Given the description of an element on the screen output the (x, y) to click on. 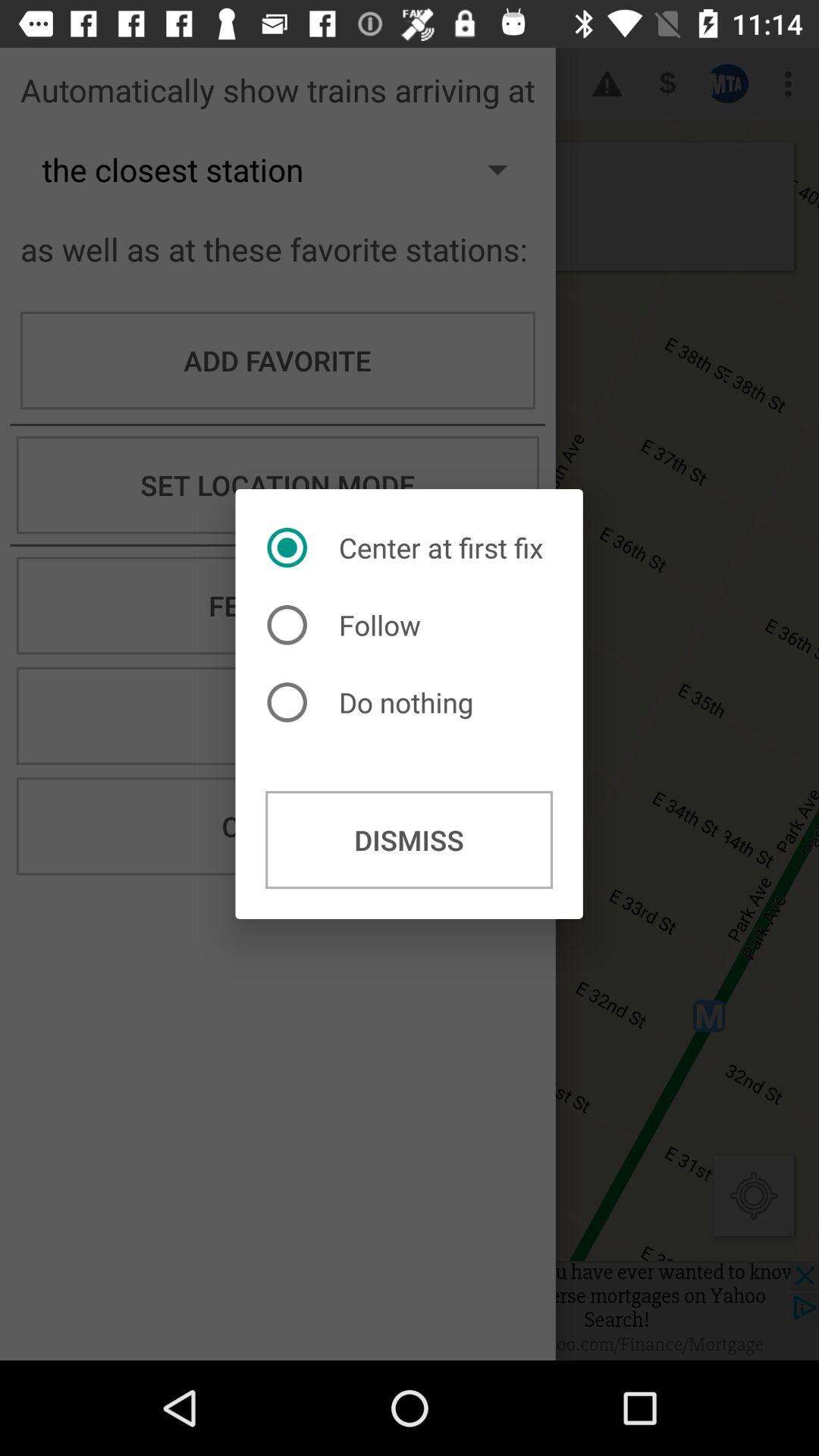
click the radio button below the follow (374, 702)
